Given the description of an element on the screen output the (x, y) to click on. 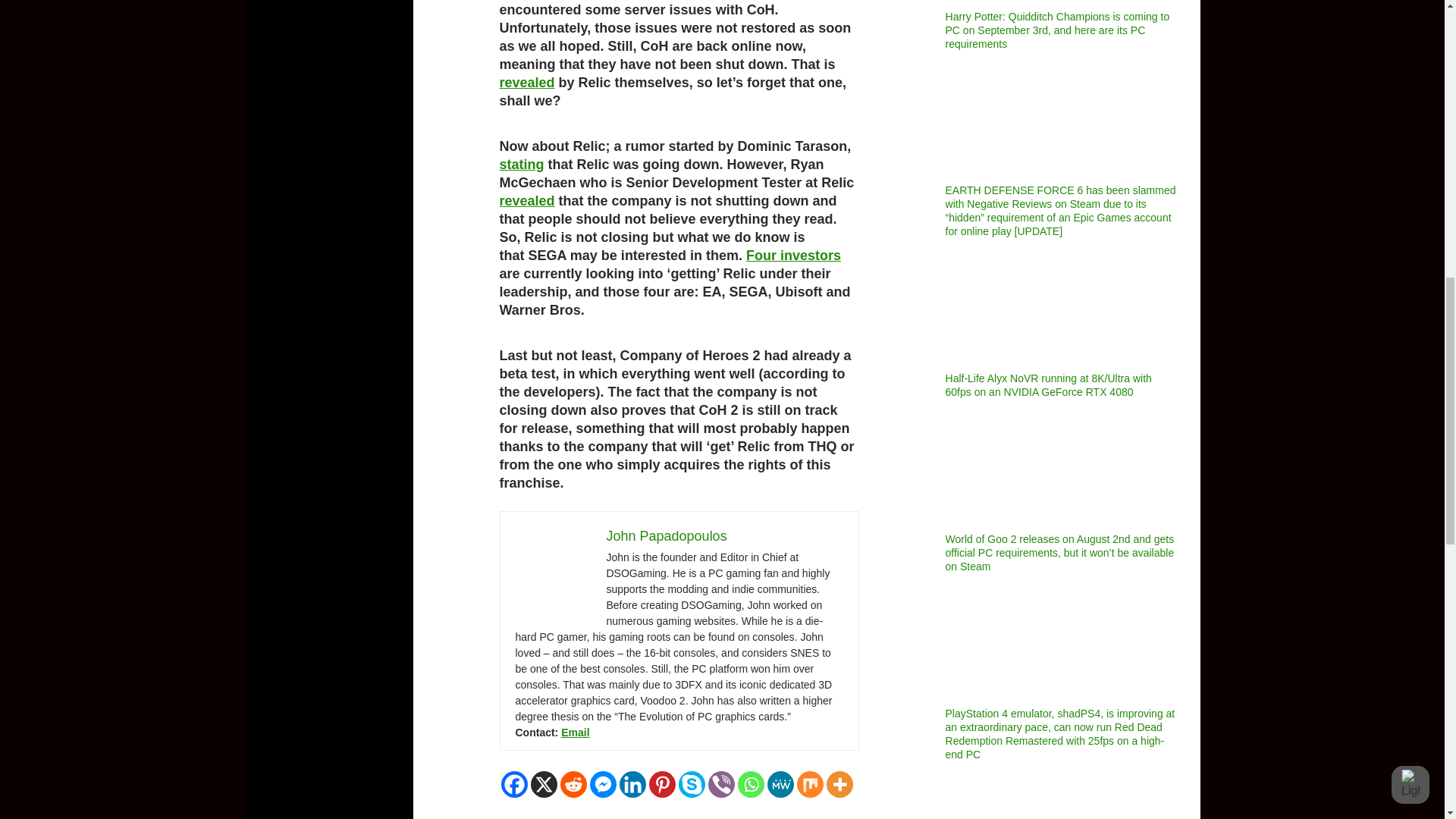
Four investors (793, 255)
Email (574, 732)
Facebook (513, 784)
revealed (526, 82)
revealed (526, 200)
John Papadopoulos (666, 535)
X (544, 784)
stating (521, 164)
